Given the description of an element on the screen output the (x, y) to click on. 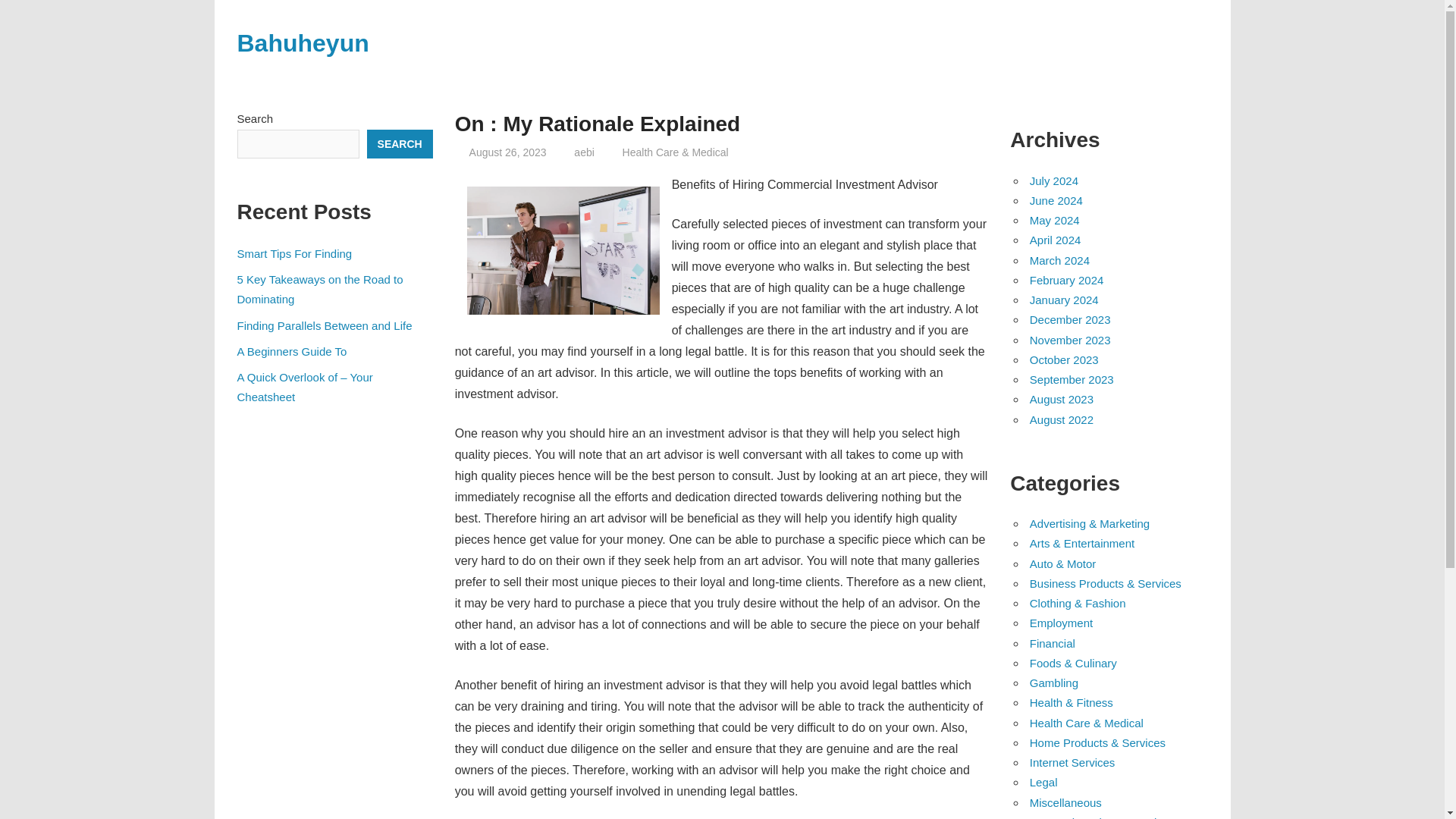
Gambling (1053, 682)
2:37 pm (507, 152)
June 2024 (1056, 200)
January 2024 (1064, 299)
April 2024 (1055, 239)
August 2023 (1061, 399)
November 2023 (1069, 339)
March 2024 (1059, 259)
Finding Parallels Between and Life (323, 325)
5 Key Takeaways on the Road to Dominating (319, 288)
February 2024 (1066, 279)
A Beginners Guide To (290, 350)
September 2023 (1071, 379)
Bahuheyun (301, 42)
August 2022 (1061, 419)
